Given the description of an element on the screen output the (x, y) to click on. 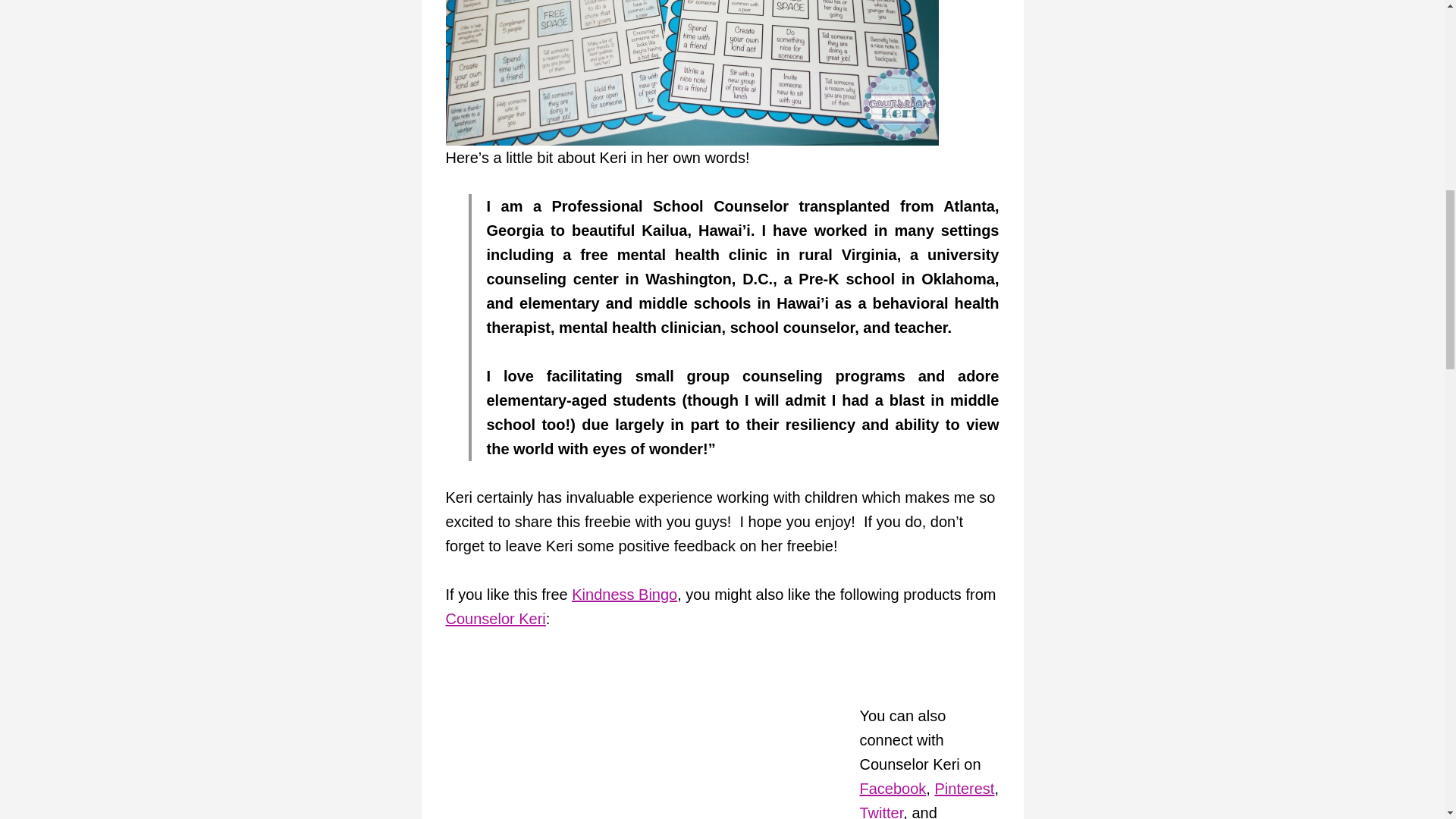
Twitter (882, 811)
Pinterest (964, 788)
Kindness Bingo (624, 594)
Facebook (893, 788)
Counselor Keri (495, 618)
